Given the description of an element on the screen output the (x, y) to click on. 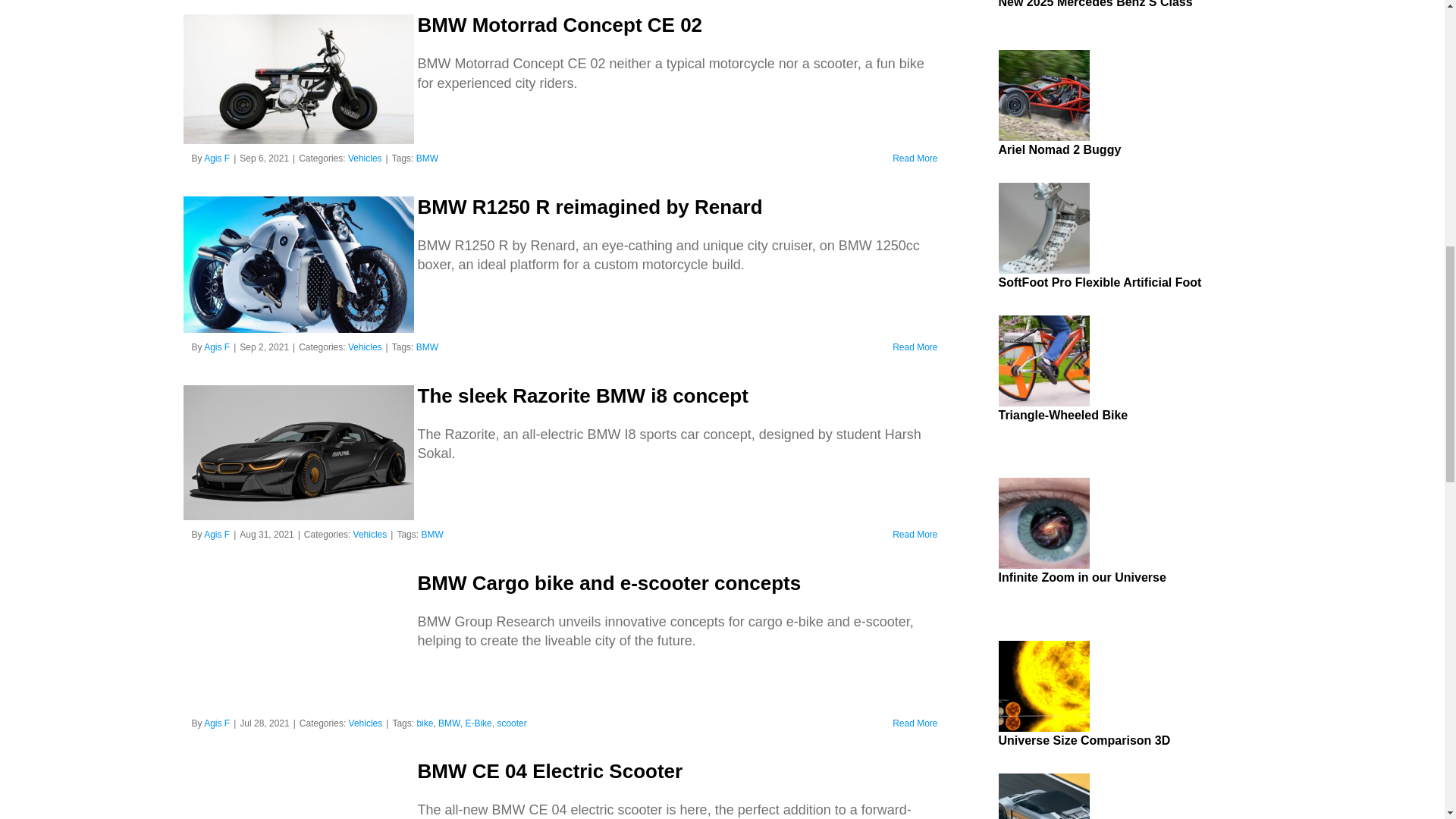
BMW Motorrad Concept CE 02 4 (298, 79)
Posts by Agis F (216, 158)
BMW R1250 R reimagined by Renard 5 (298, 264)
